Given the description of an element on the screen output the (x, y) to click on. 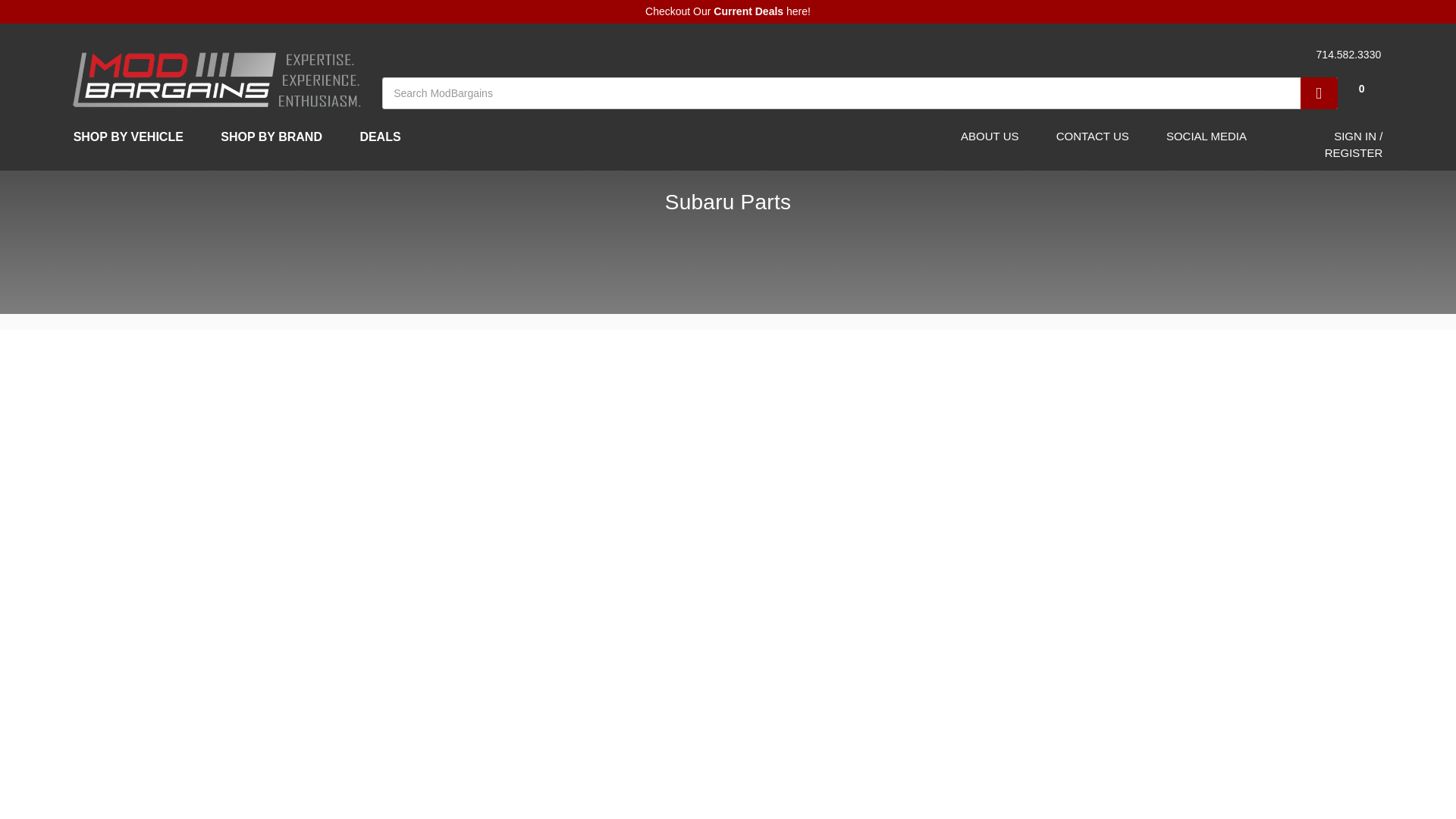
SHOP BY VEHICLE (135, 136)
ModBargains (216, 77)
0 (1360, 34)
714.582.3330 (1345, 54)
